Given the description of an element on the screen output the (x, y) to click on. 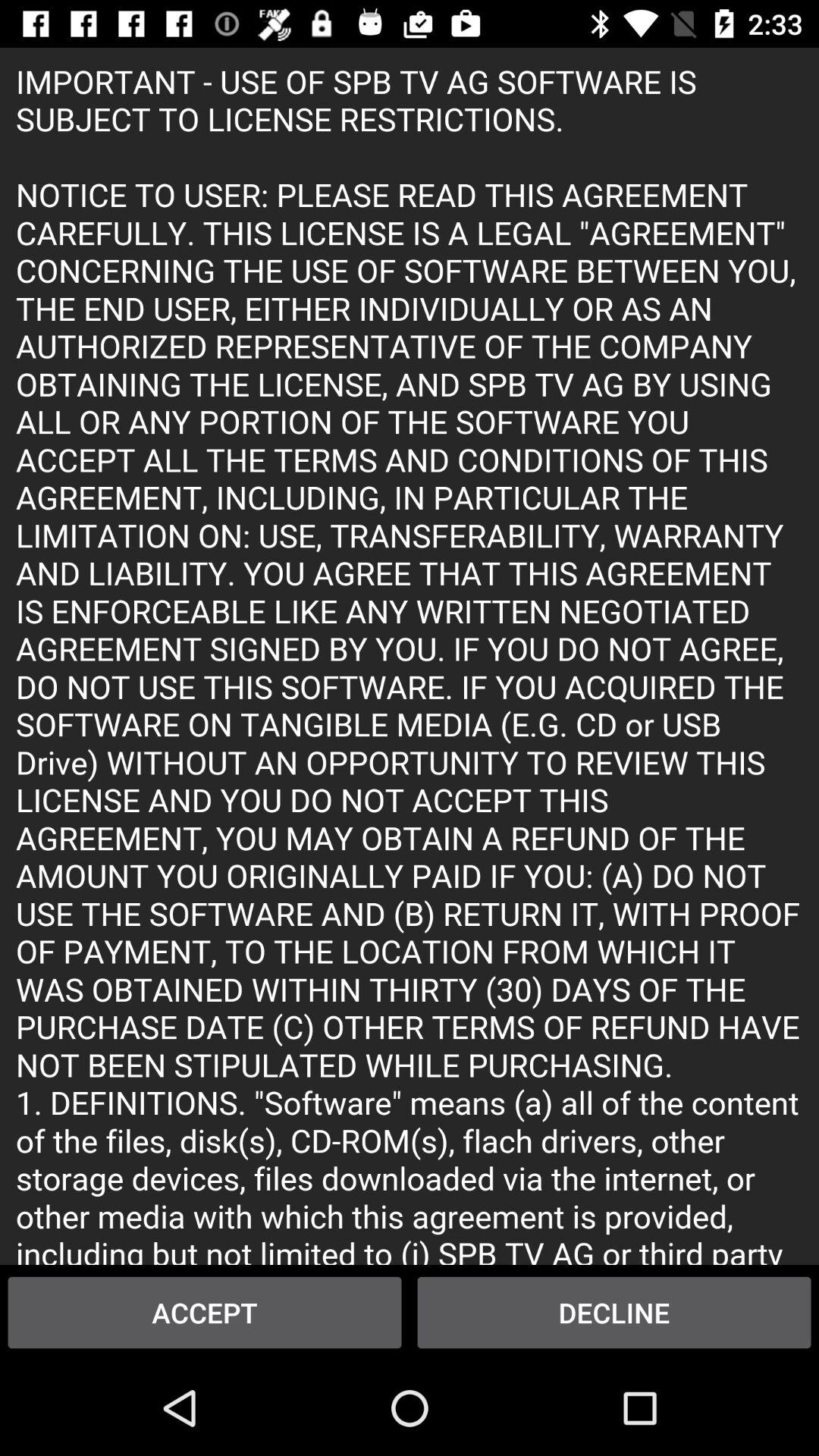
tap accept icon (204, 1312)
